Given the description of an element on the screen output the (x, y) to click on. 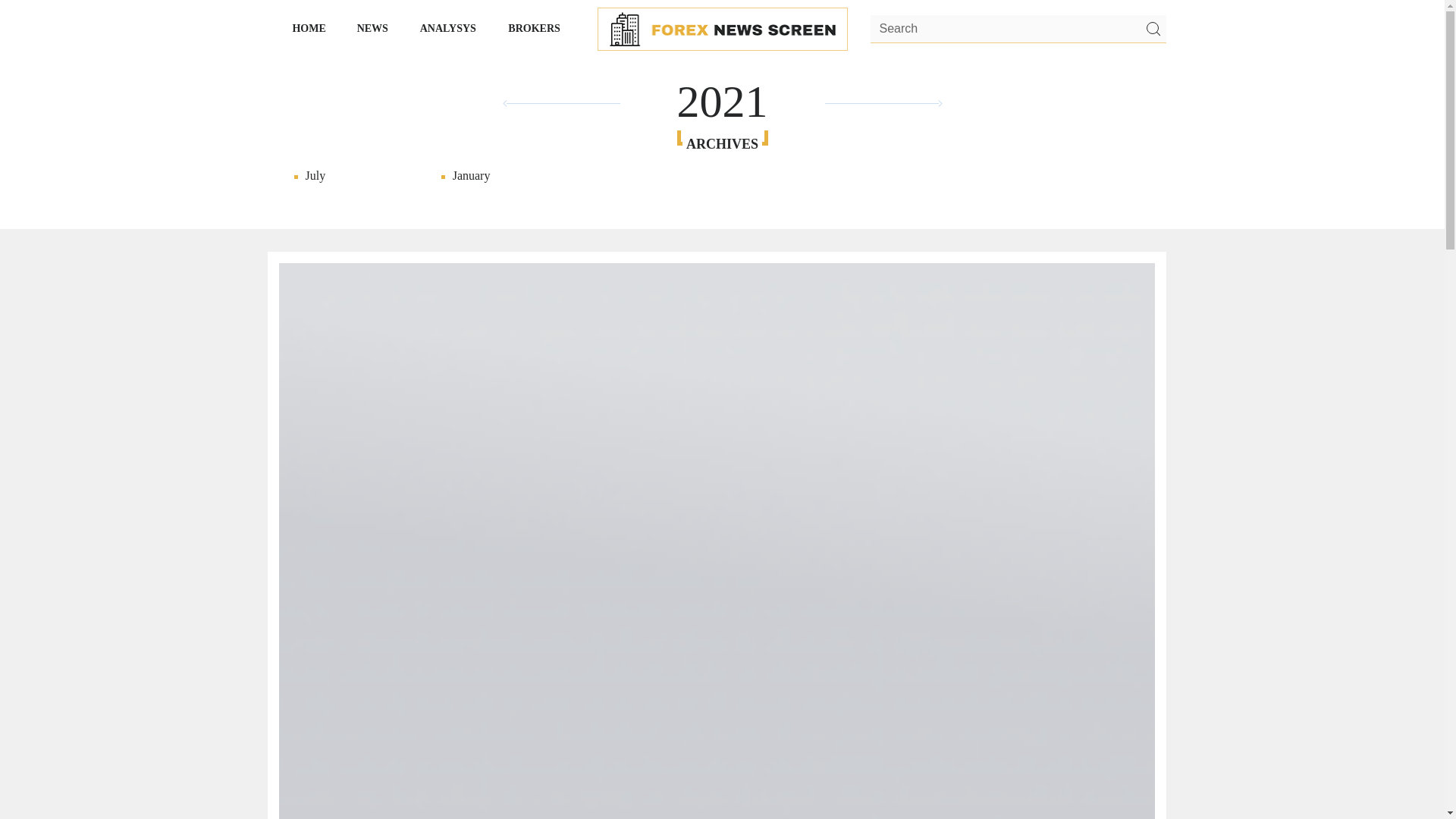
July (354, 175)
January (501, 175)
November (1240, 191)
BROKERS (535, 28)
Search (1018, 29)
ANALYSYS (448, 28)
HOME (309, 28)
Search (1152, 28)
December (1240, 175)
NEWS (372, 28)
